Given the description of an element on the screen output the (x, y) to click on. 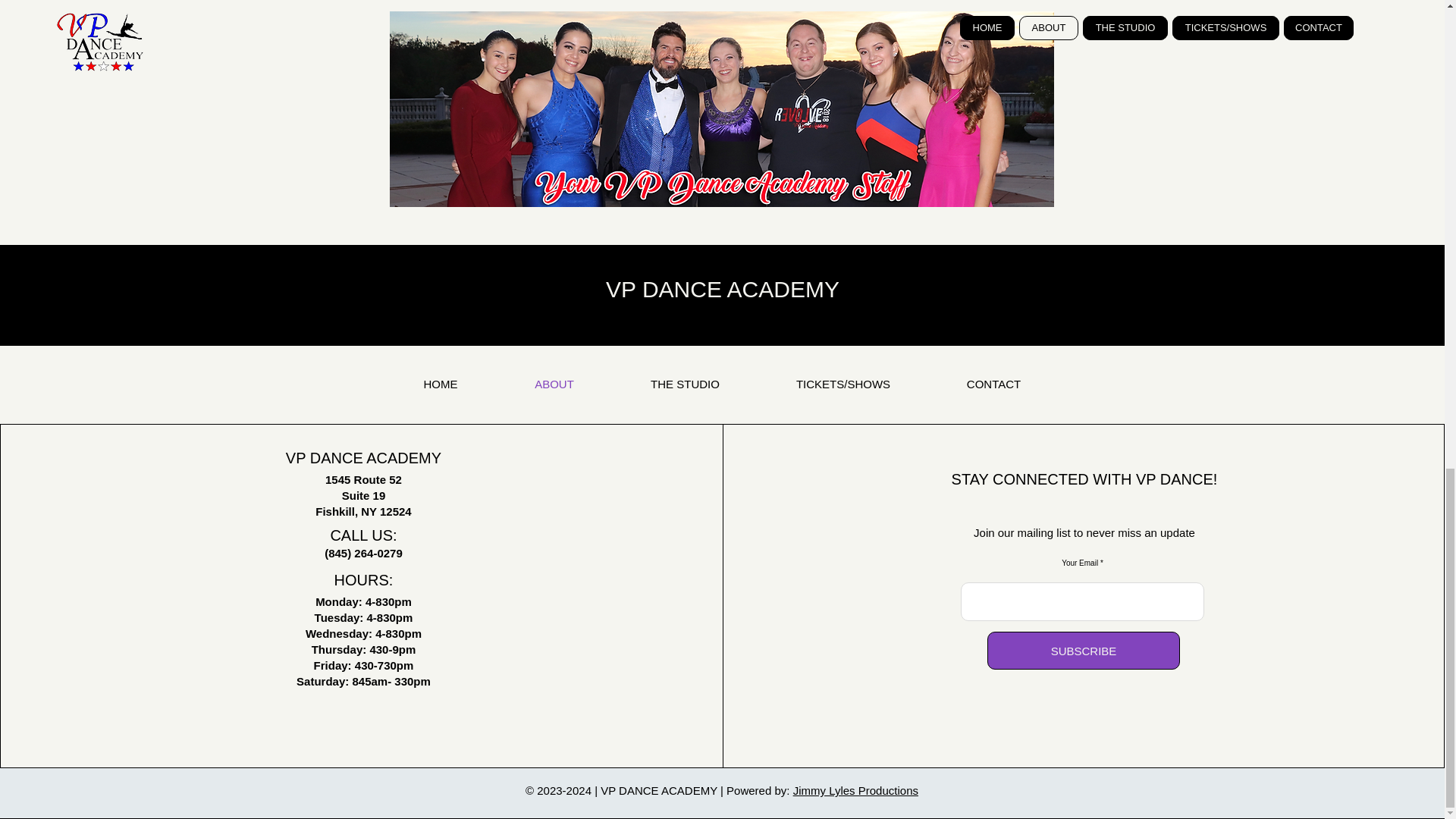
Jimmy Lyles Productions (855, 789)
ABOUT (553, 384)
SUBSCRIBE (1083, 650)
CONTACT (993, 384)
HOME (440, 384)
THE STUDIO (685, 384)
